Given the description of an element on the screen output the (x, y) to click on. 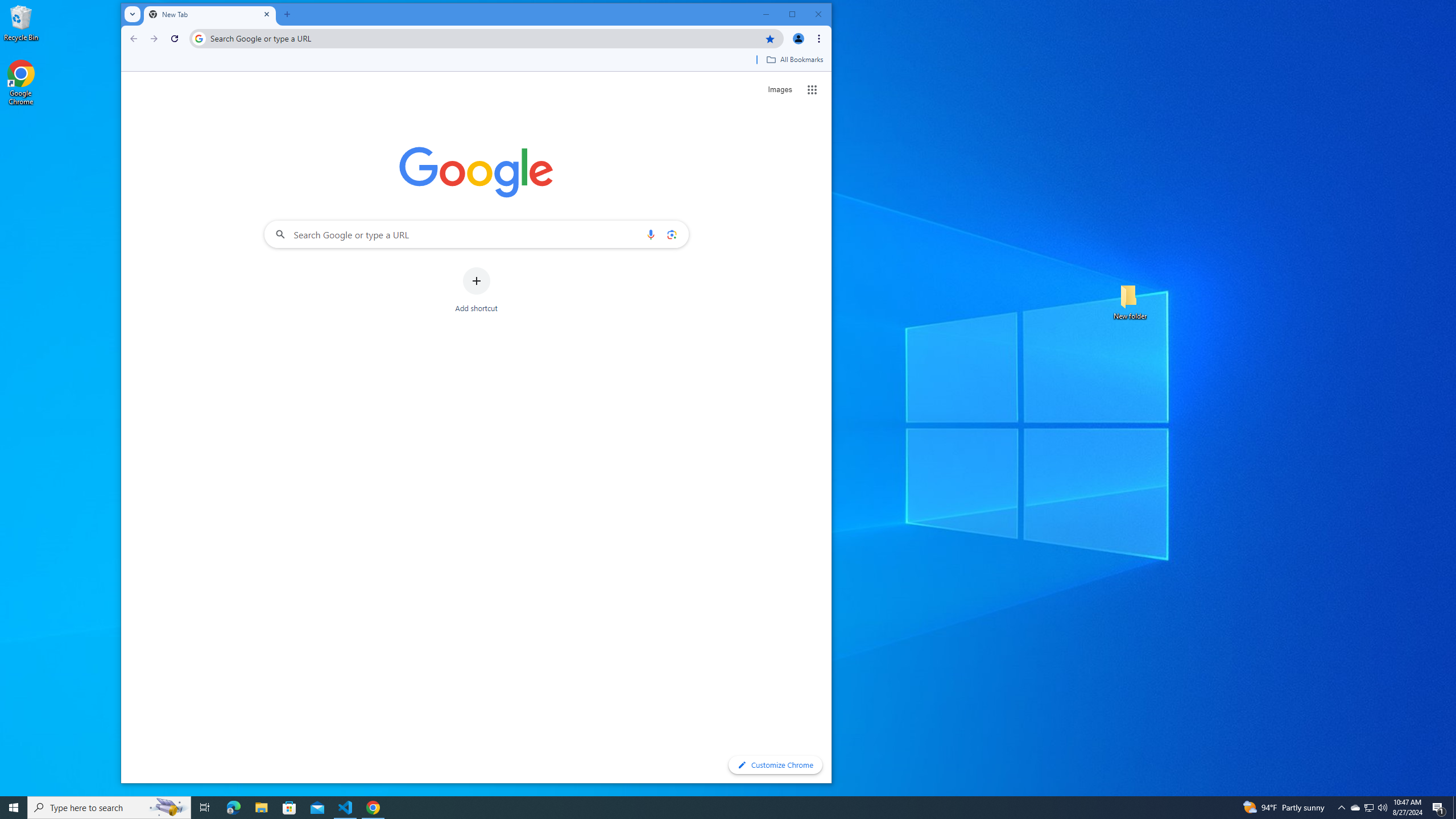
Recycle Bin (21, 22)
Google Chrome (21, 82)
New folder (1130, 301)
